Given the description of an element on the screen output the (x, y) to click on. 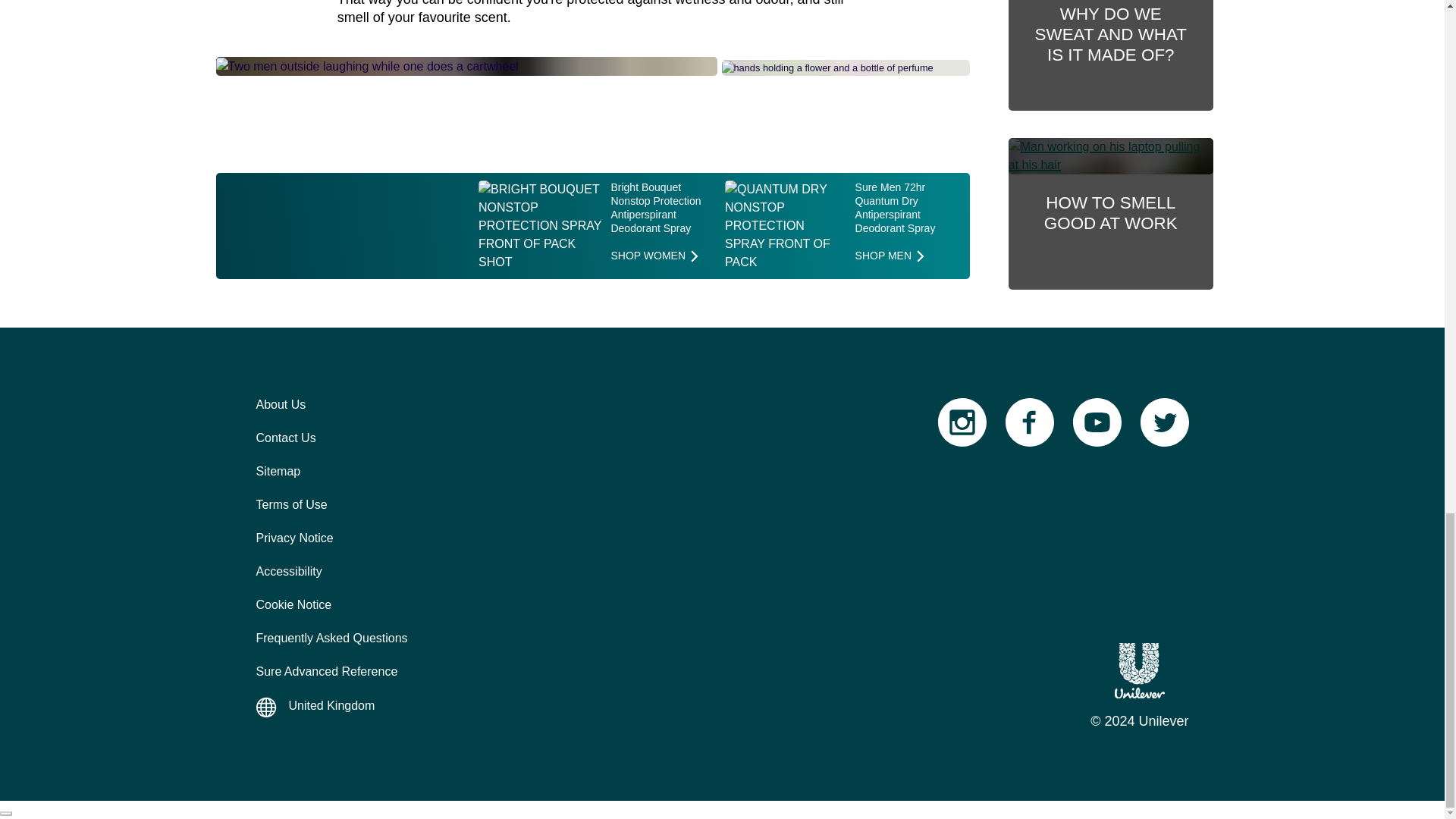
Instagram (1154, 420)
Facebook (961, 421)
Terms of Use (1030, 421)
Youtube (1018, 420)
Opens in a new window (291, 504)
United Kingdom - location selector link (1096, 421)
Frequently Asked Questions (1139, 669)
